Given the description of an element on the screen output the (x, y) to click on. 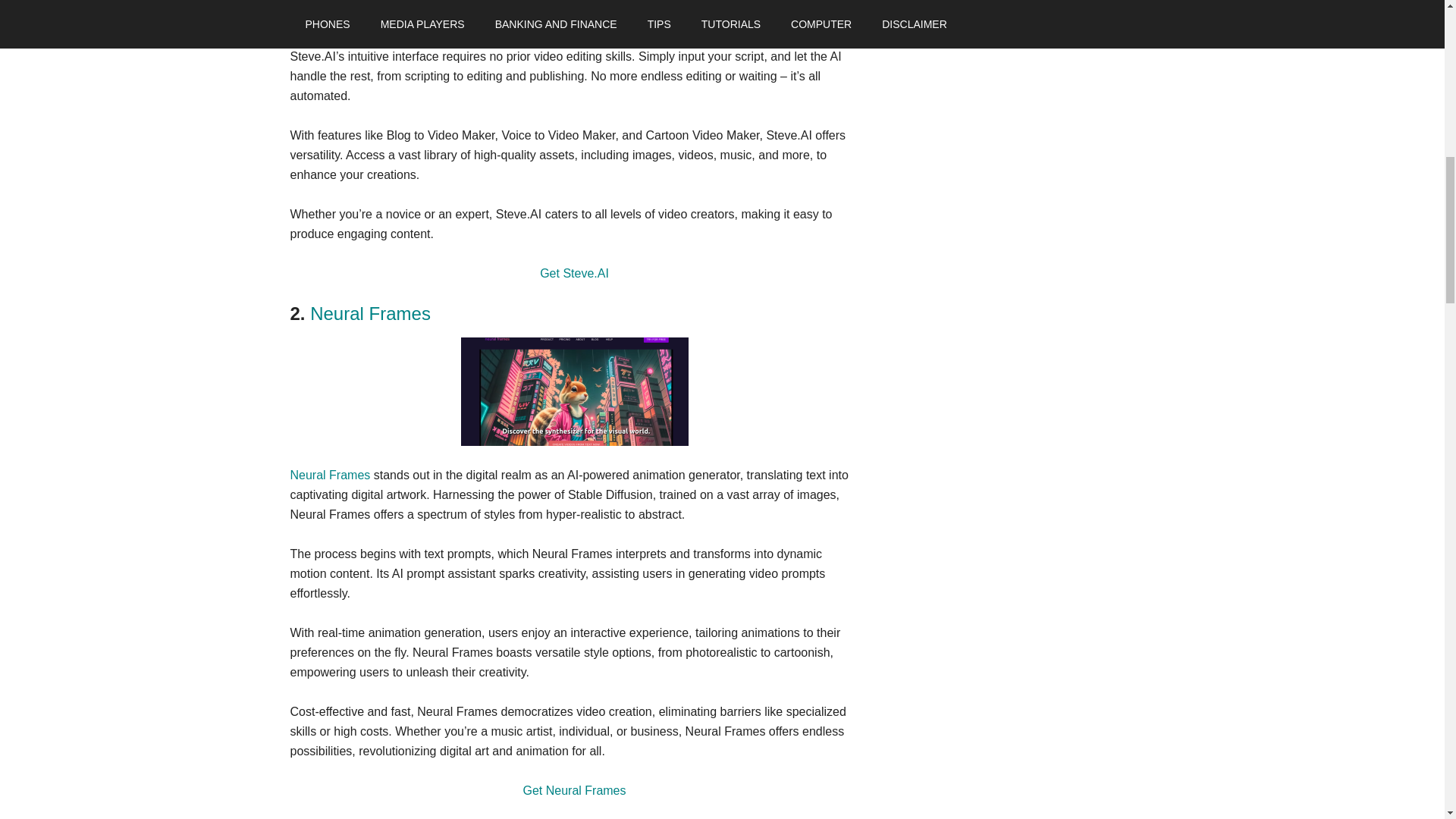
The best AI Tools for Animation 2 (574, 391)
Get Steve.AI (574, 273)
Neural Frames (370, 313)
Get Neural Frames (574, 789)
Neural Frames (329, 474)
